Given the description of an element on the screen output the (x, y) to click on. 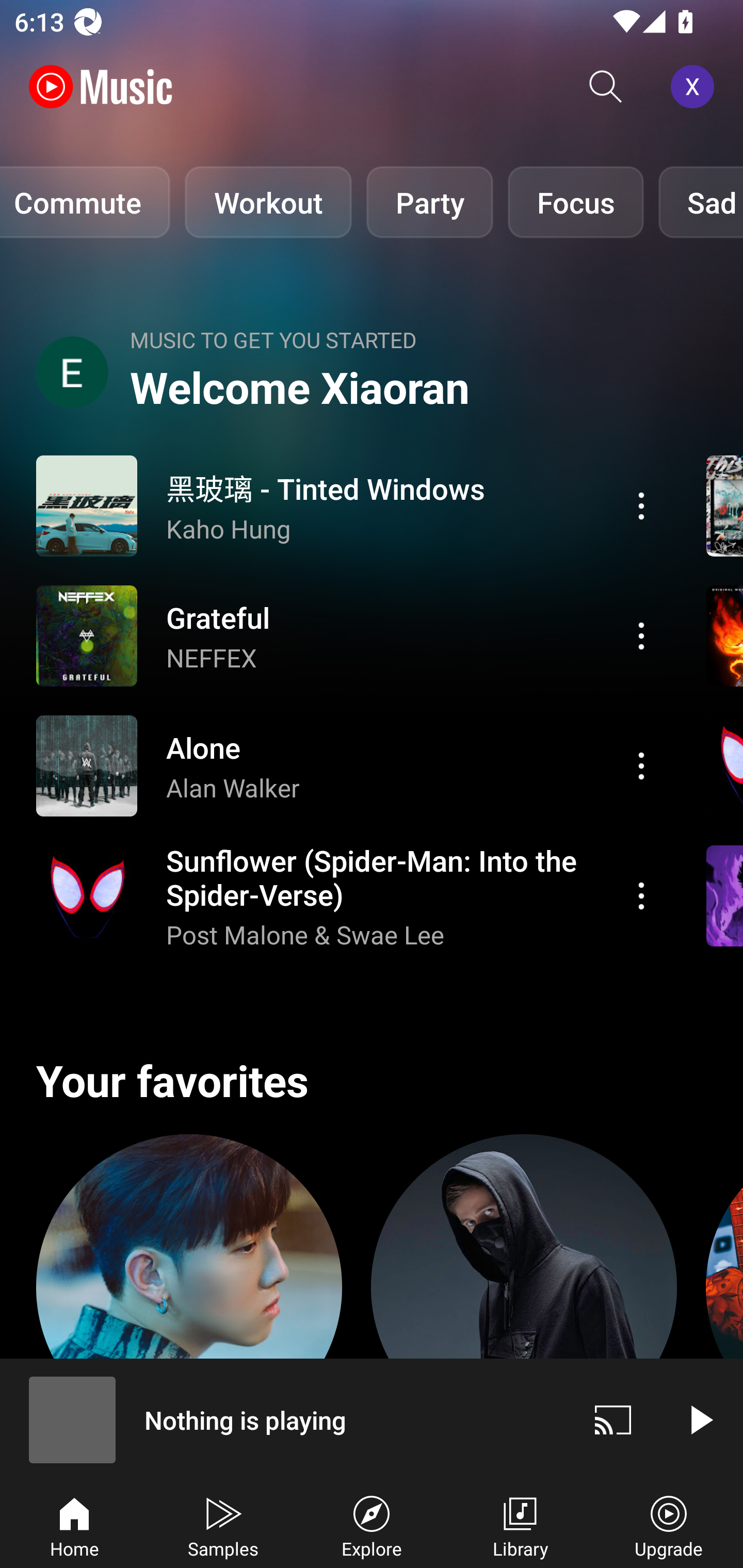
Search (605, 86)
Account (696, 86)
Action menu (349, 505)
Action menu (641, 505)
Action menu (349, 635)
Action menu (641, 635)
Action menu (349, 765)
Action menu (641, 765)
Action menu (349, 896)
Action menu (641, 896)
Nothing is playing (284, 1419)
Cast. Disconnected (612, 1419)
Play video (699, 1419)
Samples (222, 1524)
Explore (371, 1524)
Library (519, 1524)
Upgrade (668, 1524)
